Given the description of an element on the screen output the (x, y) to click on. 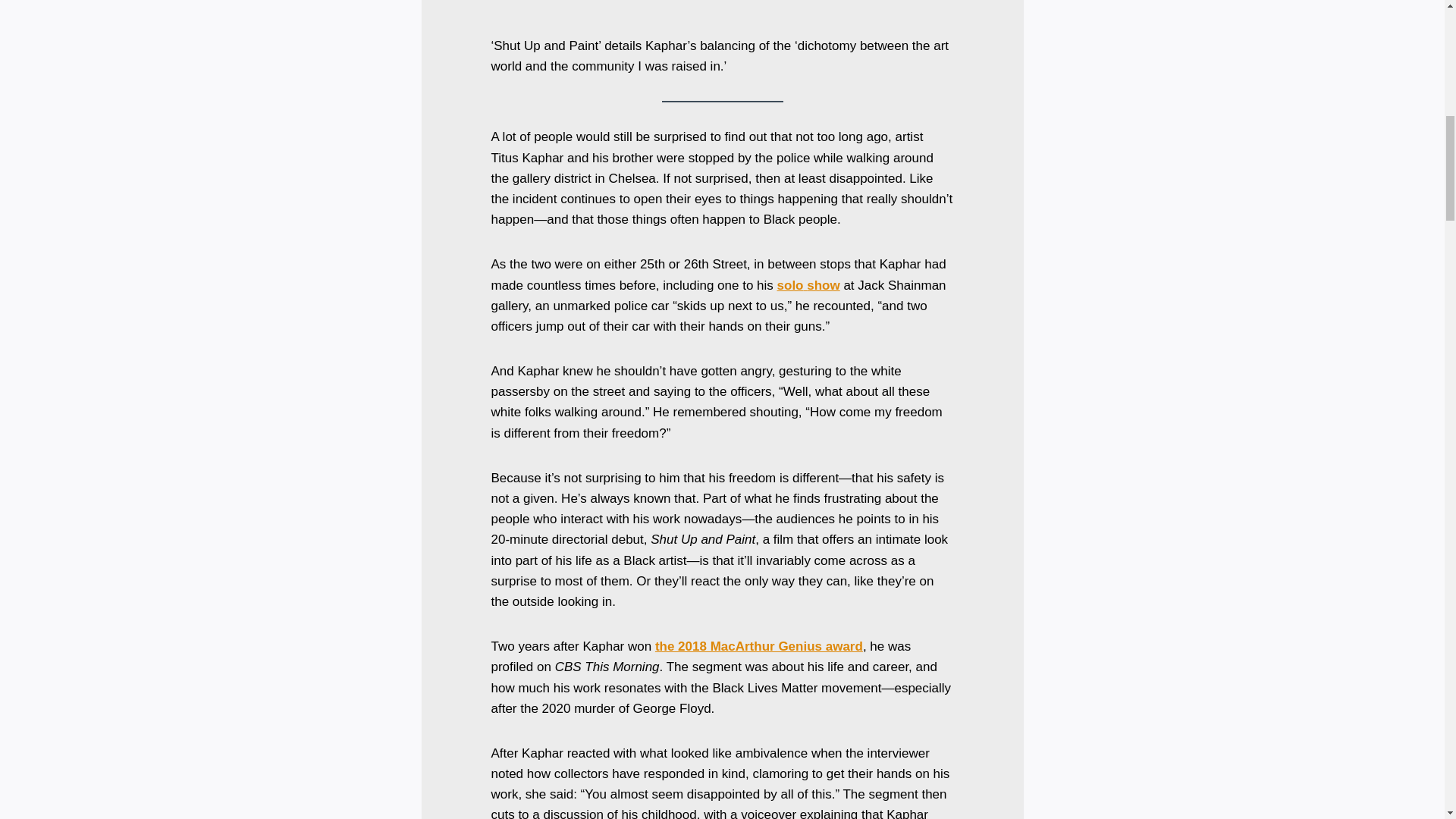
show (823, 285)
the 2018 MacArthur Genius award (759, 646)
solo (792, 285)
